Given the description of an element on the screen output the (x, y) to click on. 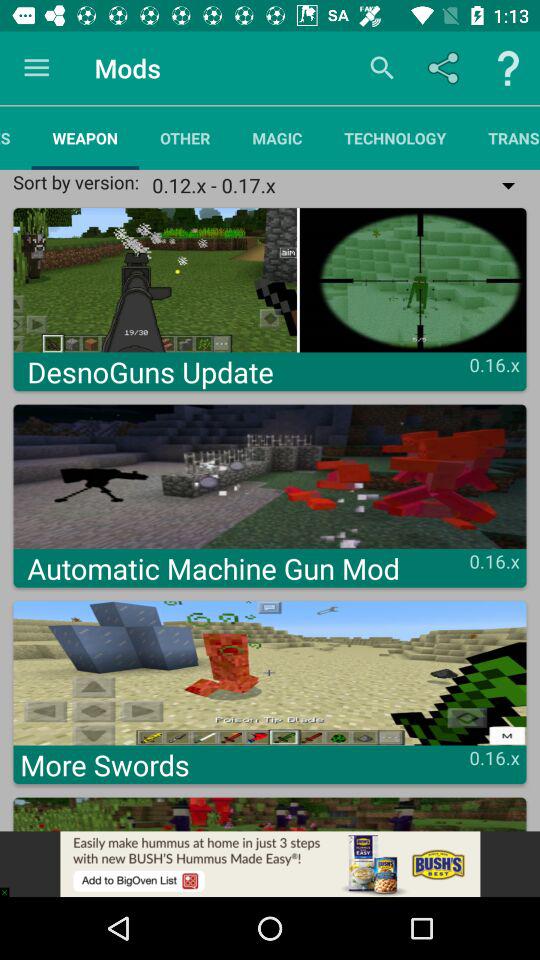
tap magic item (277, 137)
